Given the description of an element on the screen output the (x, y) to click on. 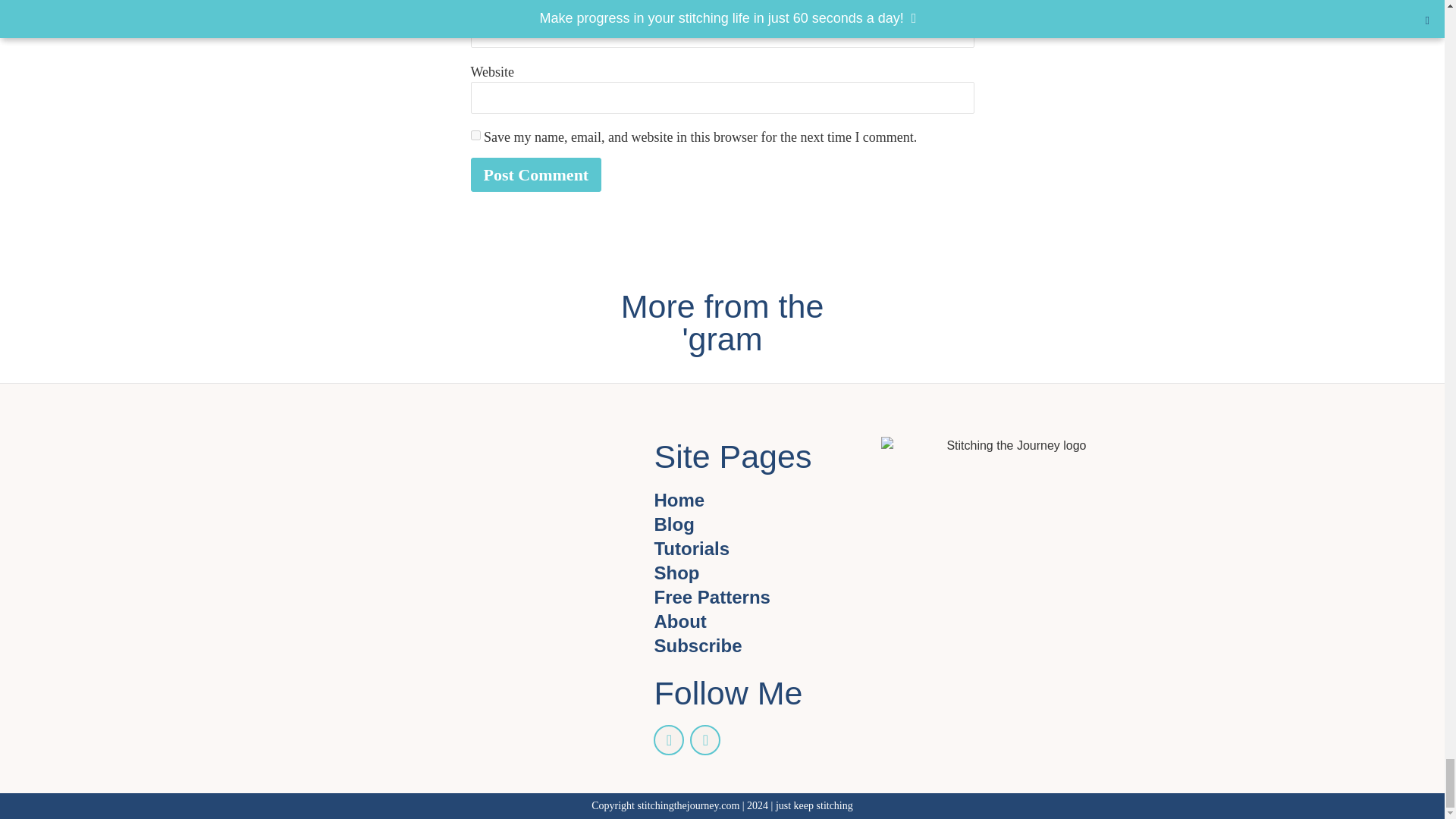
Post Comment (535, 174)
yes (475, 135)
